Given the description of an element on the screen output the (x, y) to click on. 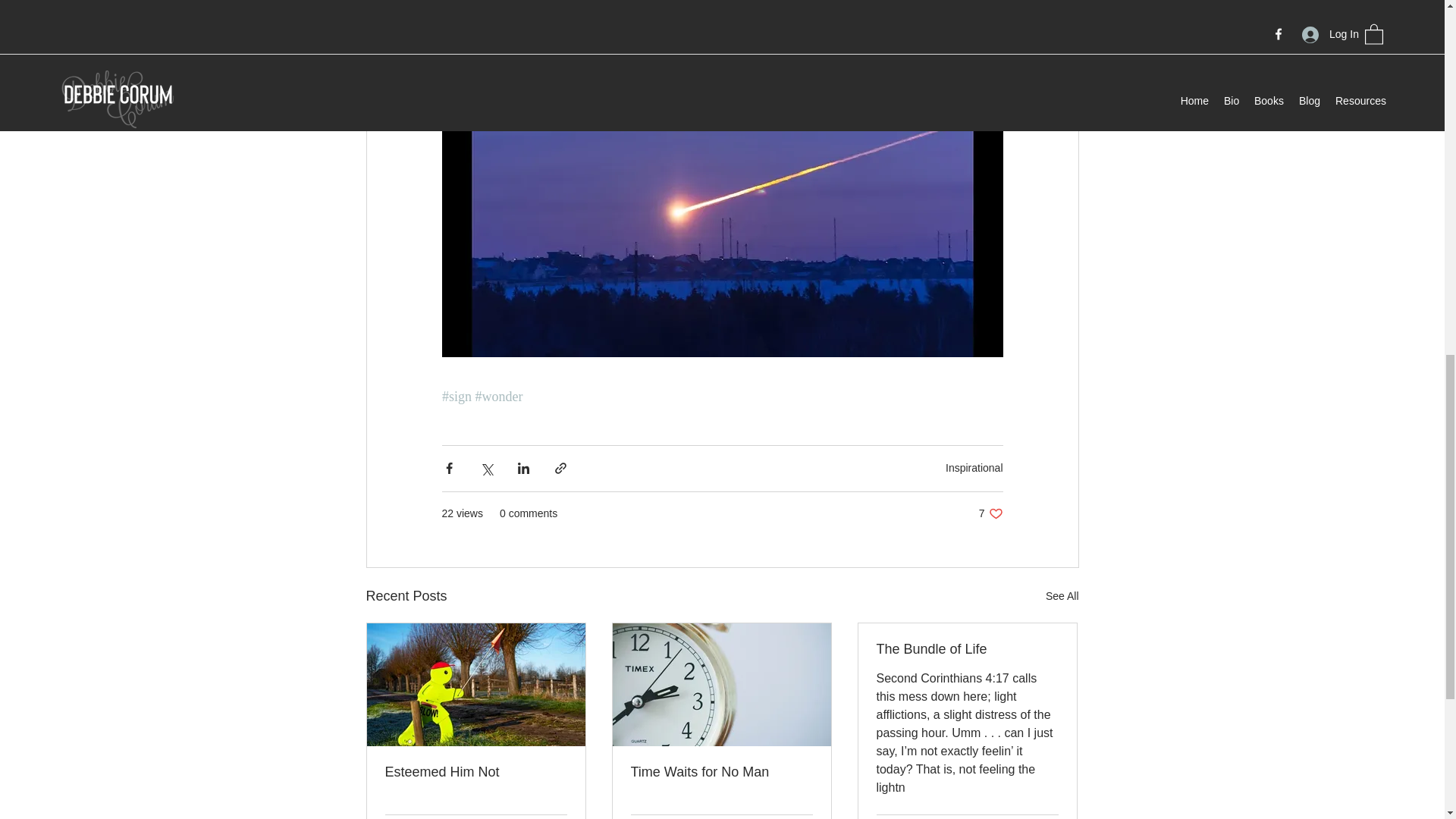
Esteemed Him Not (476, 772)
See All (1061, 596)
The Bundle of Life (967, 649)
Inspirational (990, 513)
Time Waits for No Man (973, 467)
